Given the description of an element on the screen output the (x, y) to click on. 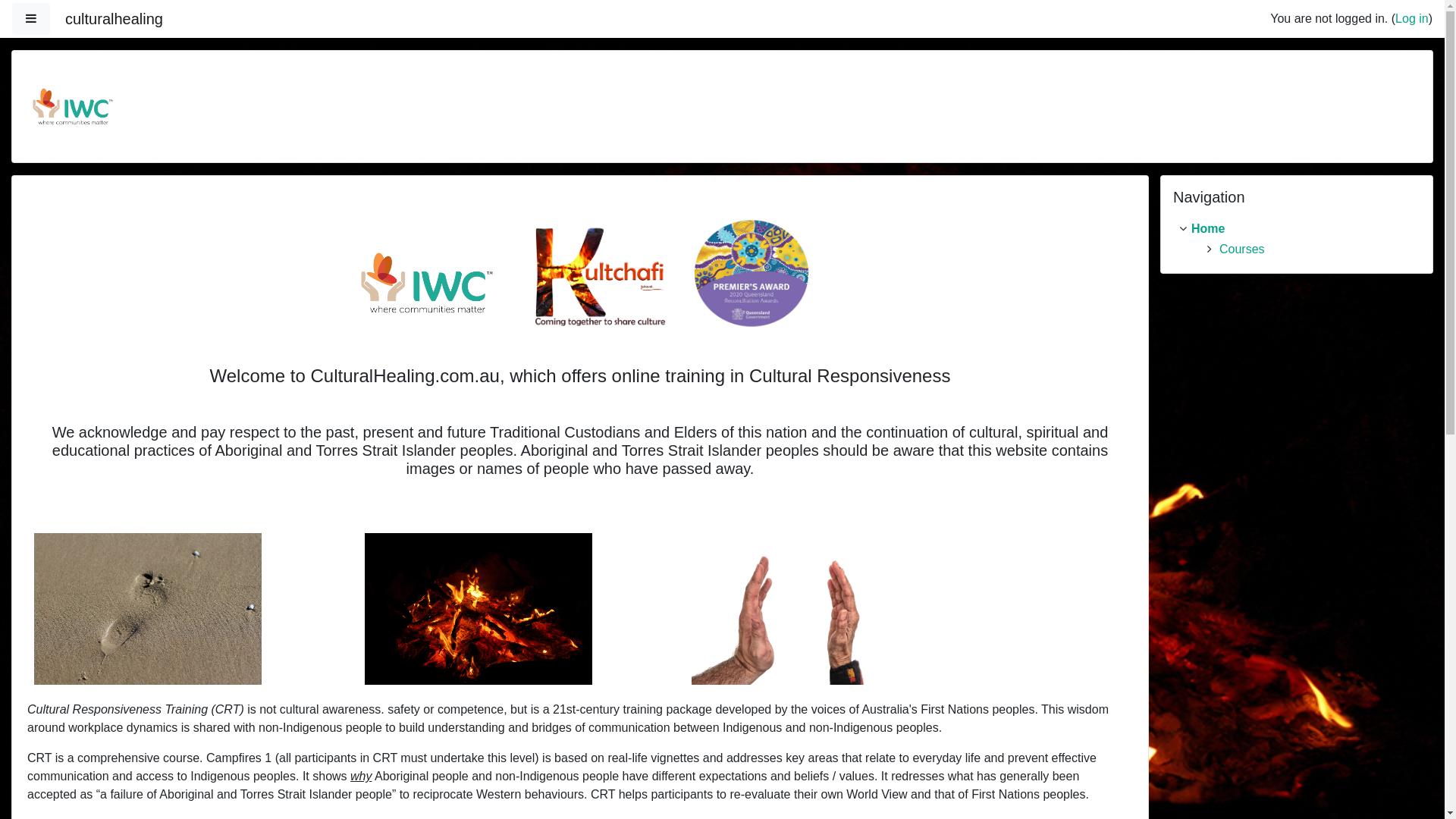
culturalhealing Element type: text (114, 18)
Side panel Element type: text (31, 18)
Skip Navigation Element type: text (1159, 174)
Courses Element type: text (1241, 248)
Log in Element type: text (1411, 18)
Home Element type: text (1207, 228)
